Given the description of an element on the screen output the (x, y) to click on. 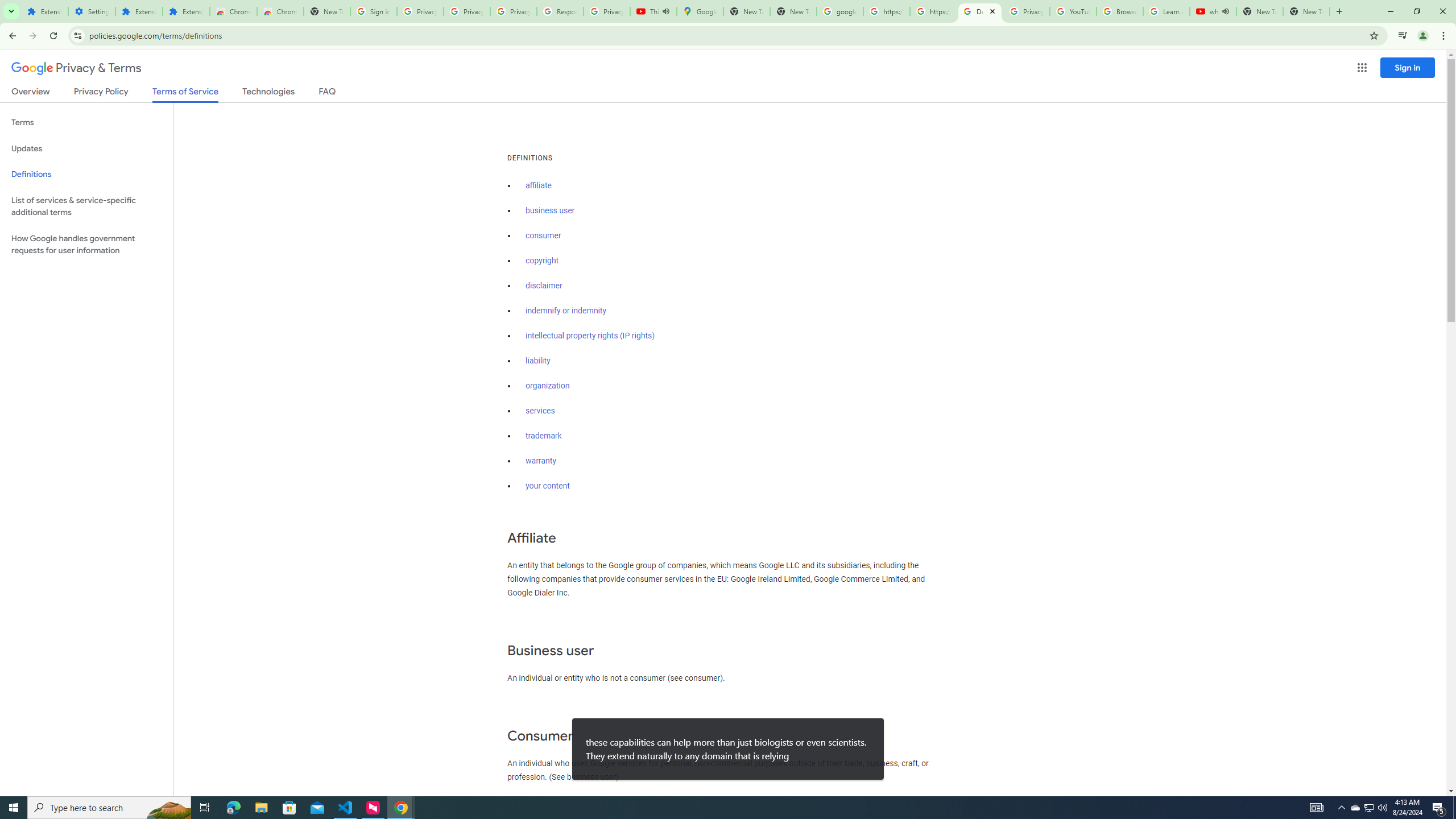
disclaimer (543, 285)
Mute tab (1225, 10)
https://scholar.google.com/ (886, 11)
warranty (540, 461)
New Tab (1306, 11)
